Given the description of an element on the screen output the (x, y) to click on. 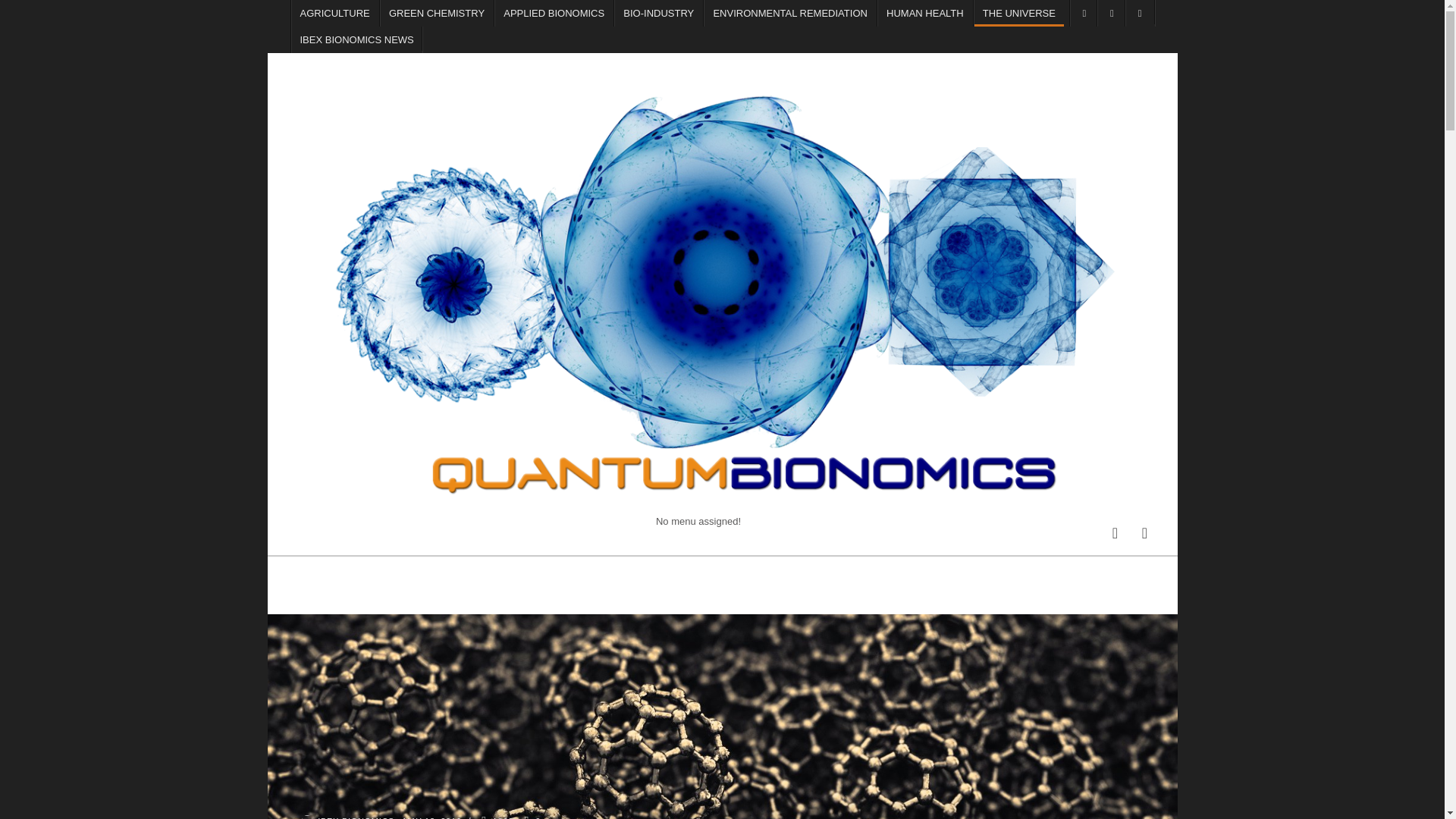
IBEX BIONOMICS NEWS (356, 39)
Login (1144, 532)
APPLIED BIONOMICS (553, 13)
GREEN CHEMISTRY (436, 13)
ENVIRONMENTAL REMEDIATION (789, 13)
BIO-INDUSTRY (657, 13)
IBEX Bionomics (307, 816)
AGRICULTURE (334, 13)
HUMAN HEALTH (924, 13)
IBEX BIONOMICS (357, 817)
THE UNIVERSE (1019, 13)
